Given the description of an element on the screen output the (x, y) to click on. 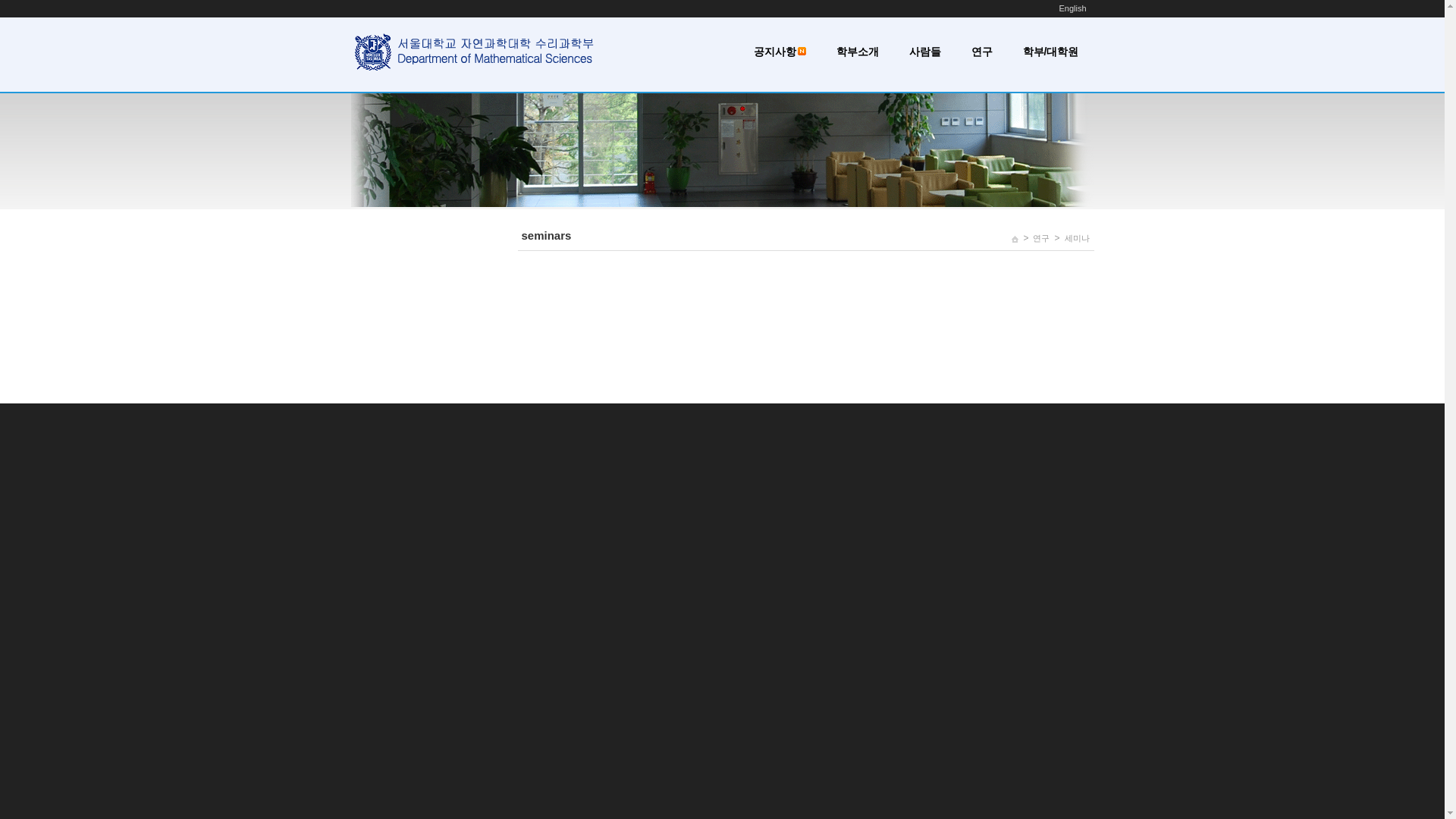
new (801, 50)
English (1072, 8)
